Given the description of an element on the screen output the (x, y) to click on. 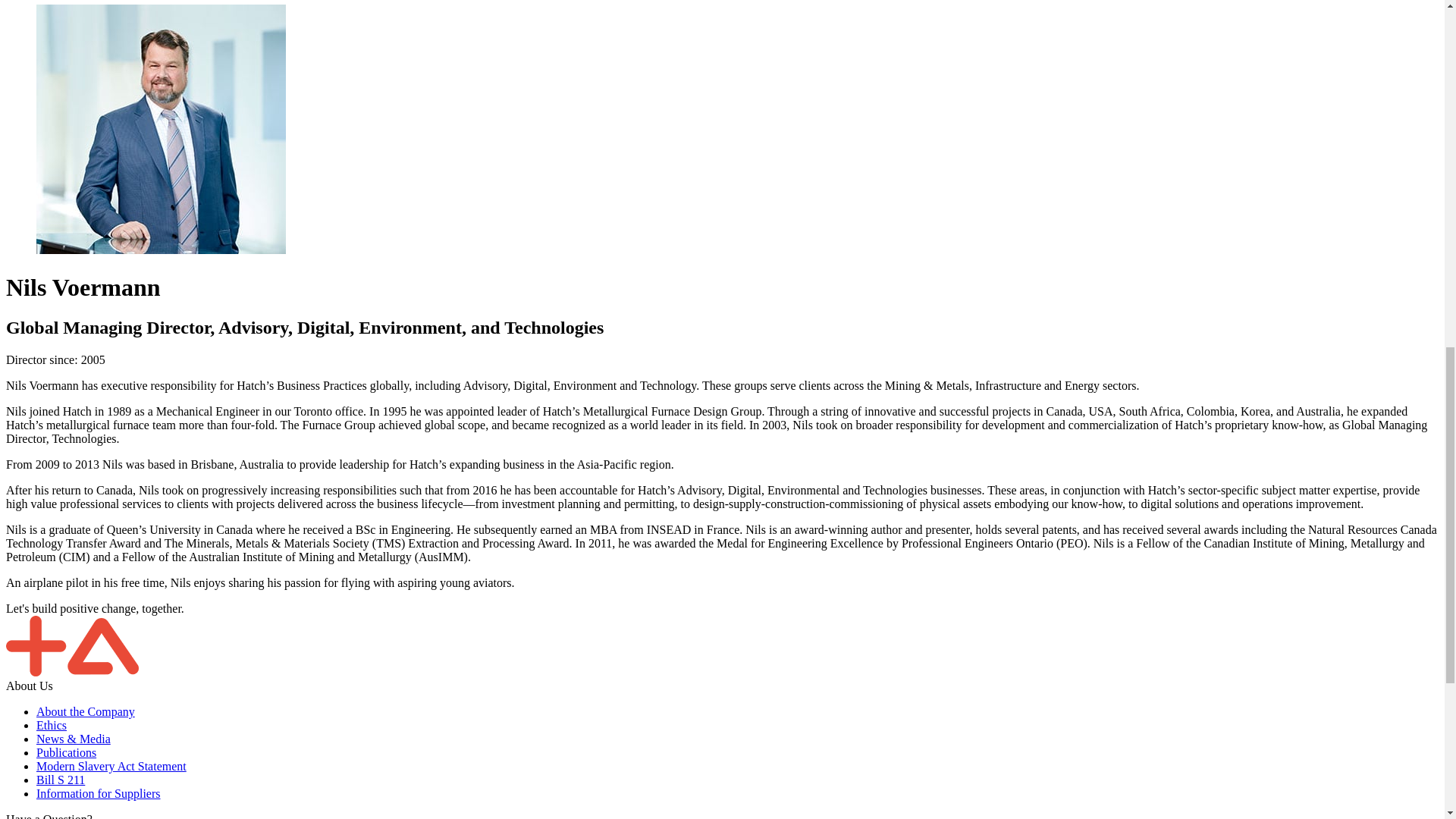
Information for Suppliers Registration (98, 793)
Bill S 211 (60, 779)
Information for Suppliers (98, 793)
Ethics (51, 725)
About the Company (85, 711)
Modern Slavery Act Statement (111, 766)
Ethics (51, 725)
About the Company (85, 711)
Bill S 211 (60, 779)
Modern Slavery Act Statement (111, 766)
